Given the description of an element on the screen output the (x, y) to click on. 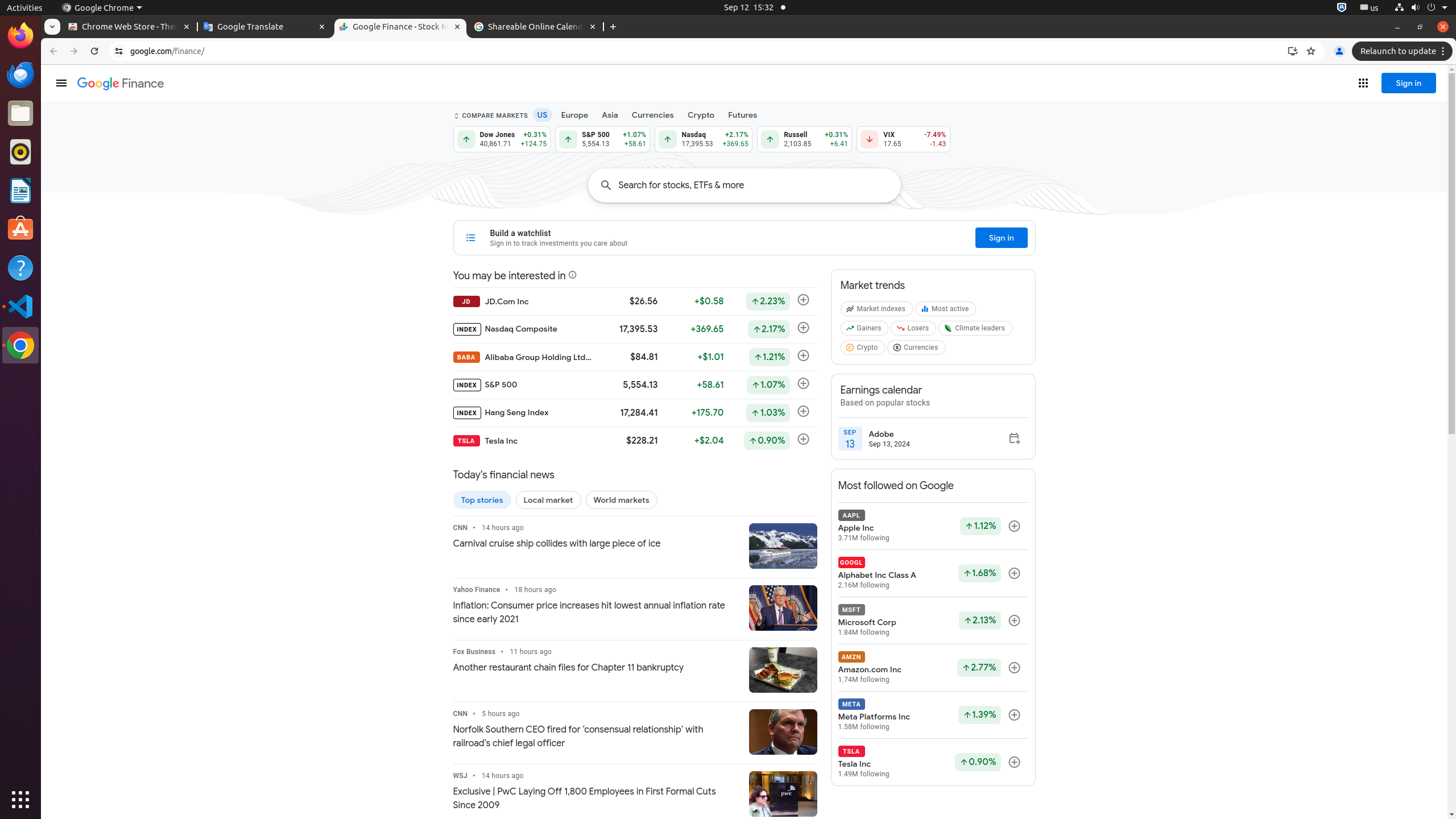
Shareable Online Calendar and Scheduling - Google Calendar - Memory usage - 88.1 MB Element type: page-tab (535, 26)
New Tab Element type: push-button (613, 26)
System Element type: menu (1420, 7)
Show Applications Element type: toggle-button (20, 799)
Losers Element type: link (914, 330)
